Given the description of an element on the screen output the (x, y) to click on. 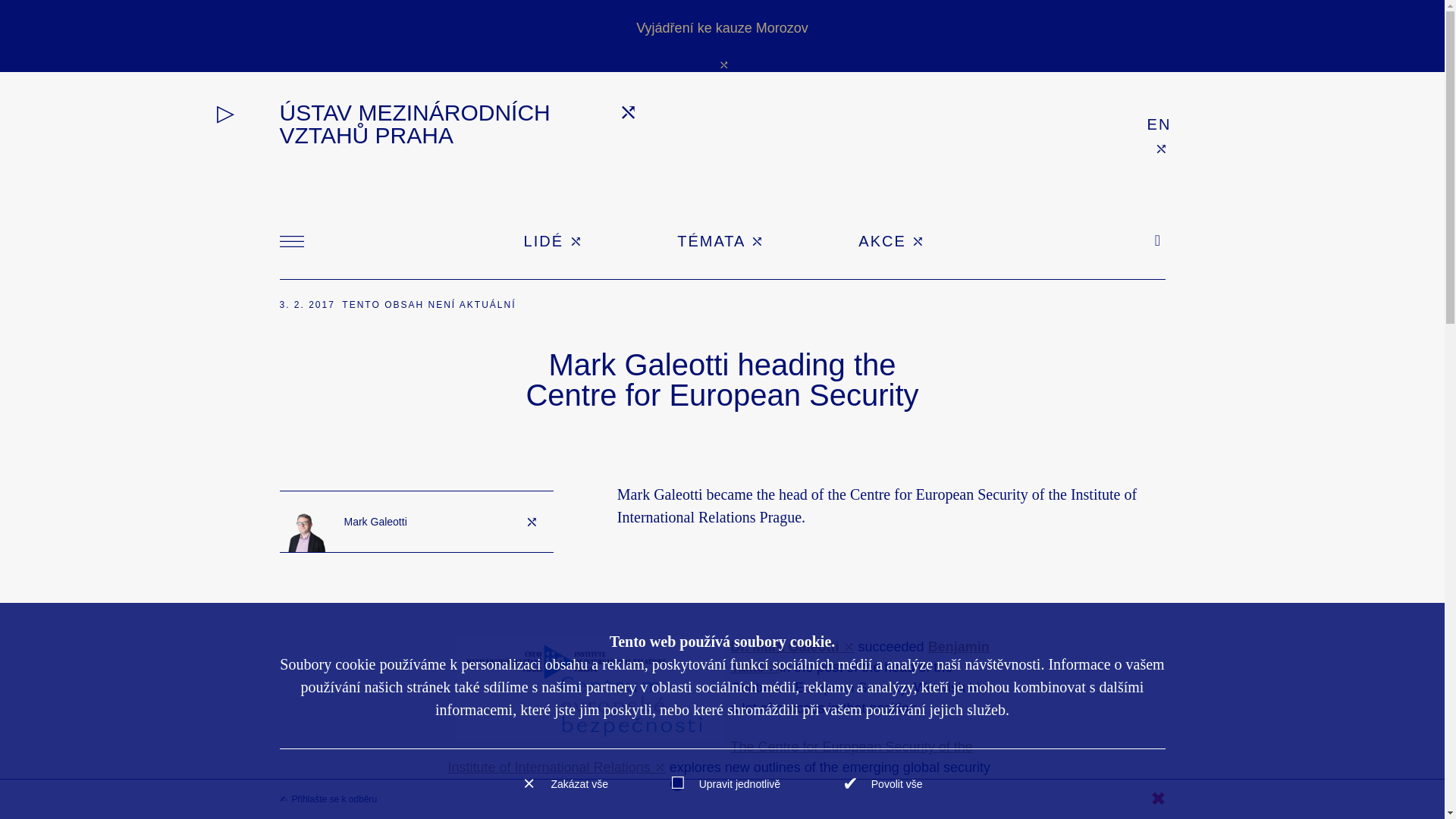
English (1158, 124)
Dr. Mark Galeotti (792, 646)
AKCE (892, 240)
Mark Galeotti (416, 521)
EN (1158, 124)
Benjamin Tallis (860, 656)
